Given the description of an element on the screen output the (x, y) to click on. 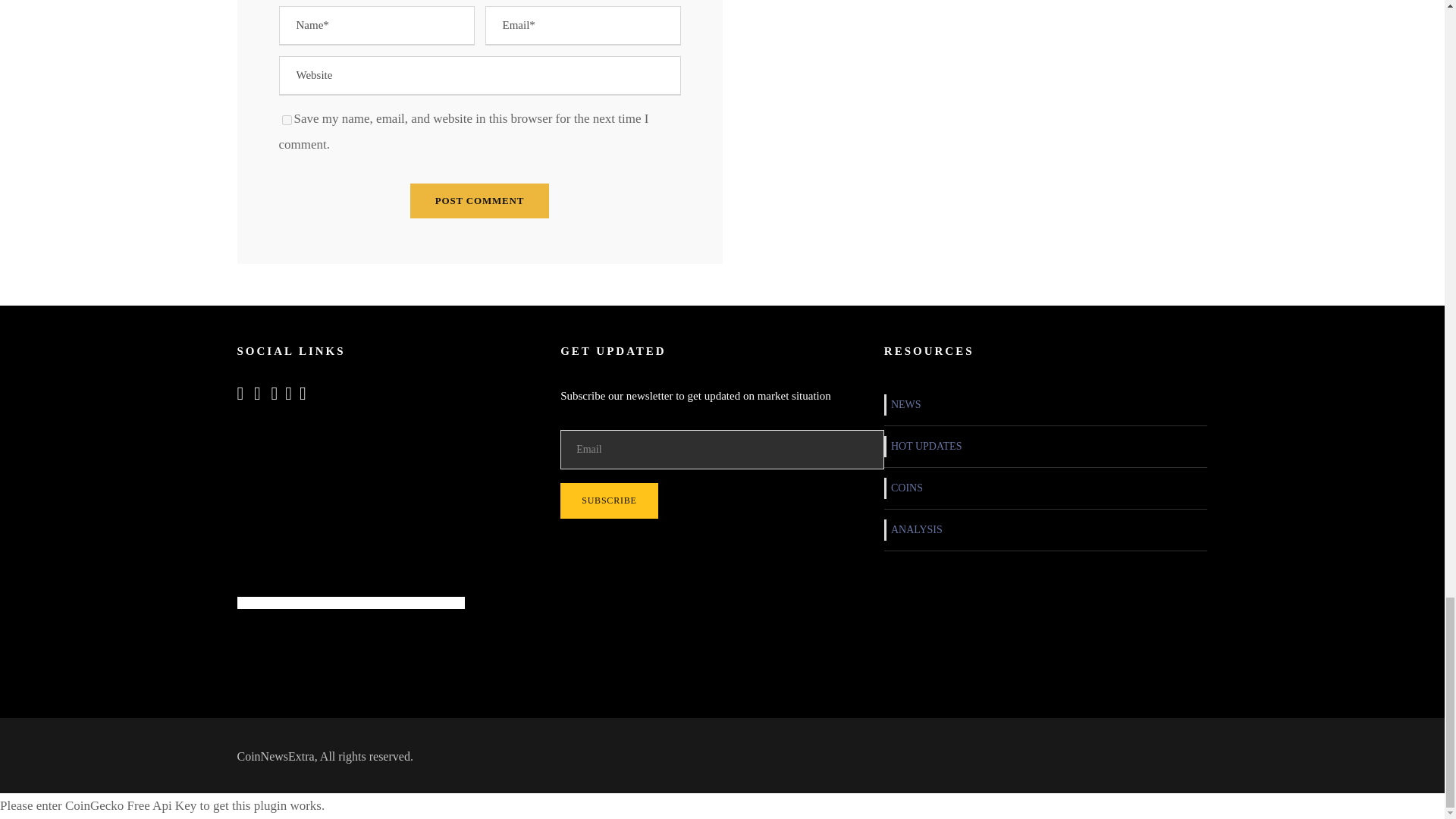
Subscribe (609, 500)
yes (287, 120)
Post Comment (479, 200)
